Given the description of an element on the screen output the (x, y) to click on. 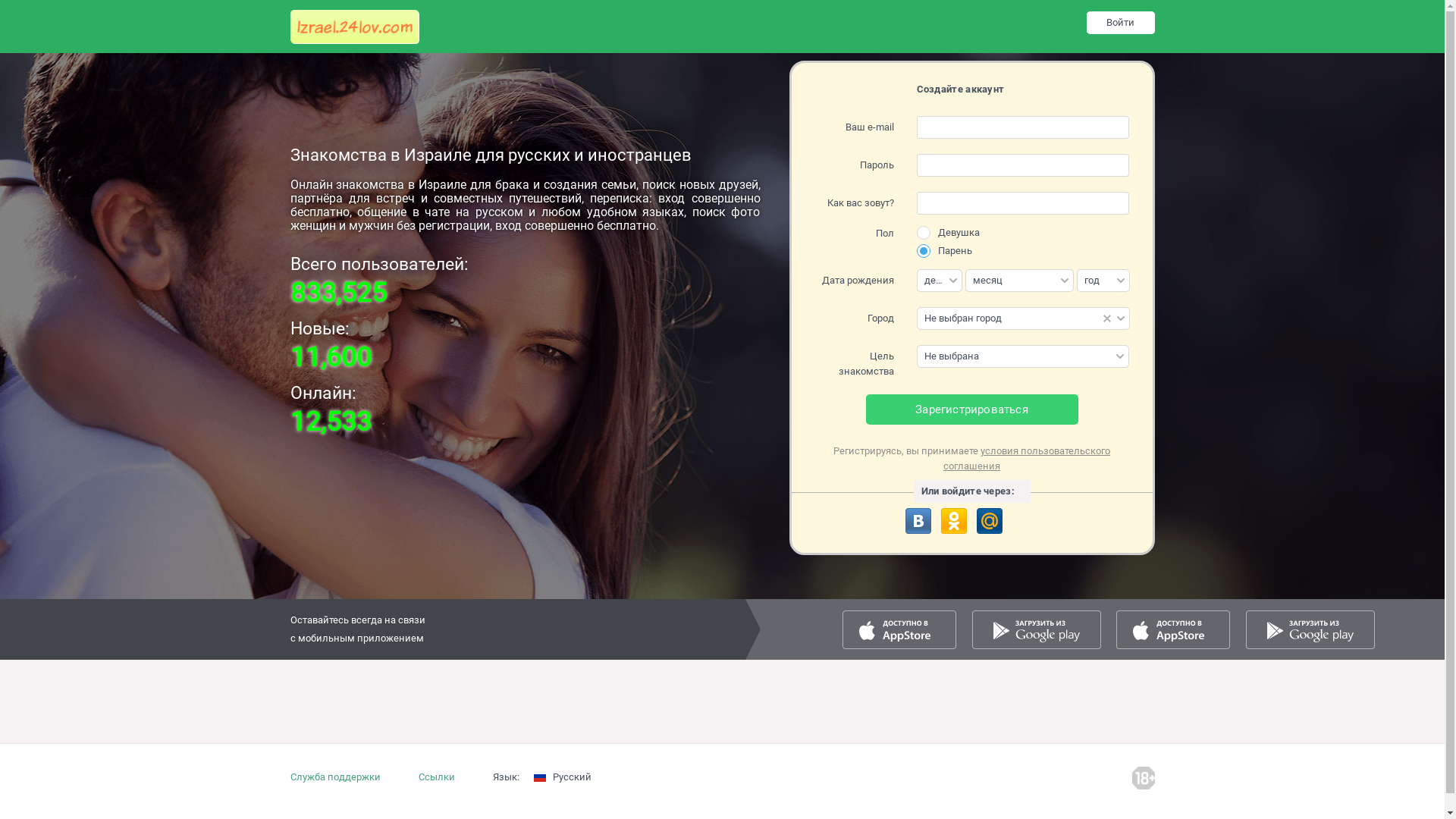
11,600 Element type: text (329, 357)
12,533 Element type: text (329, 421)
Mail.ru Element type: hover (989, 520)
833,525 Element type: text (337, 292)
